Given the description of an element on the screen output the (x, y) to click on. 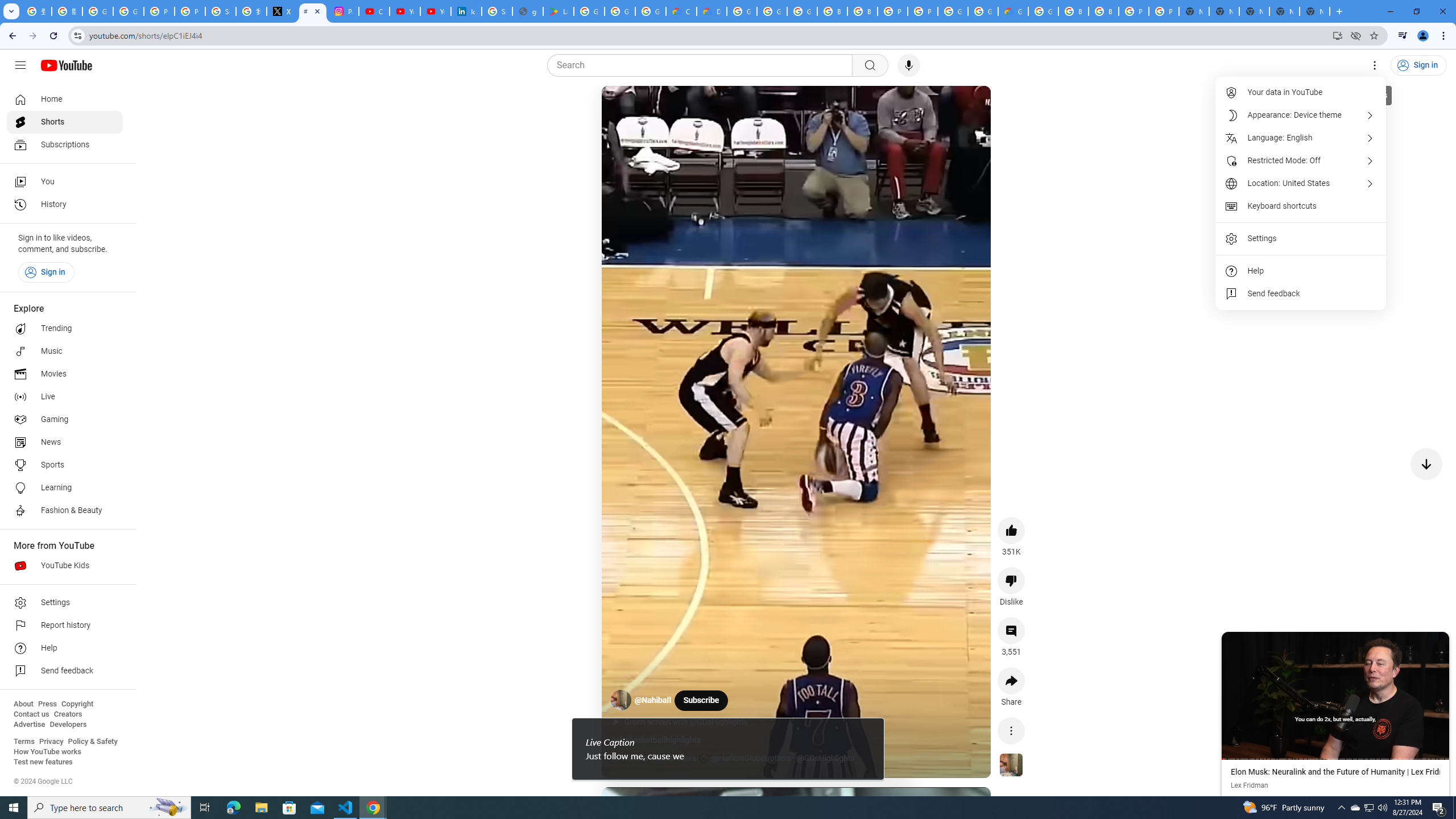
Google Cloud Platform (741, 11)
New Tab (1314, 11)
Last Shelter: Survival - Apps on Google Play (558, 11)
News (64, 441)
YouTube Kids (64, 565)
History (64, 204)
See more videos using this sound (1011, 765)
View 3,551 comments (1011, 630)
